Given the description of an element on the screen output the (x, y) to click on. 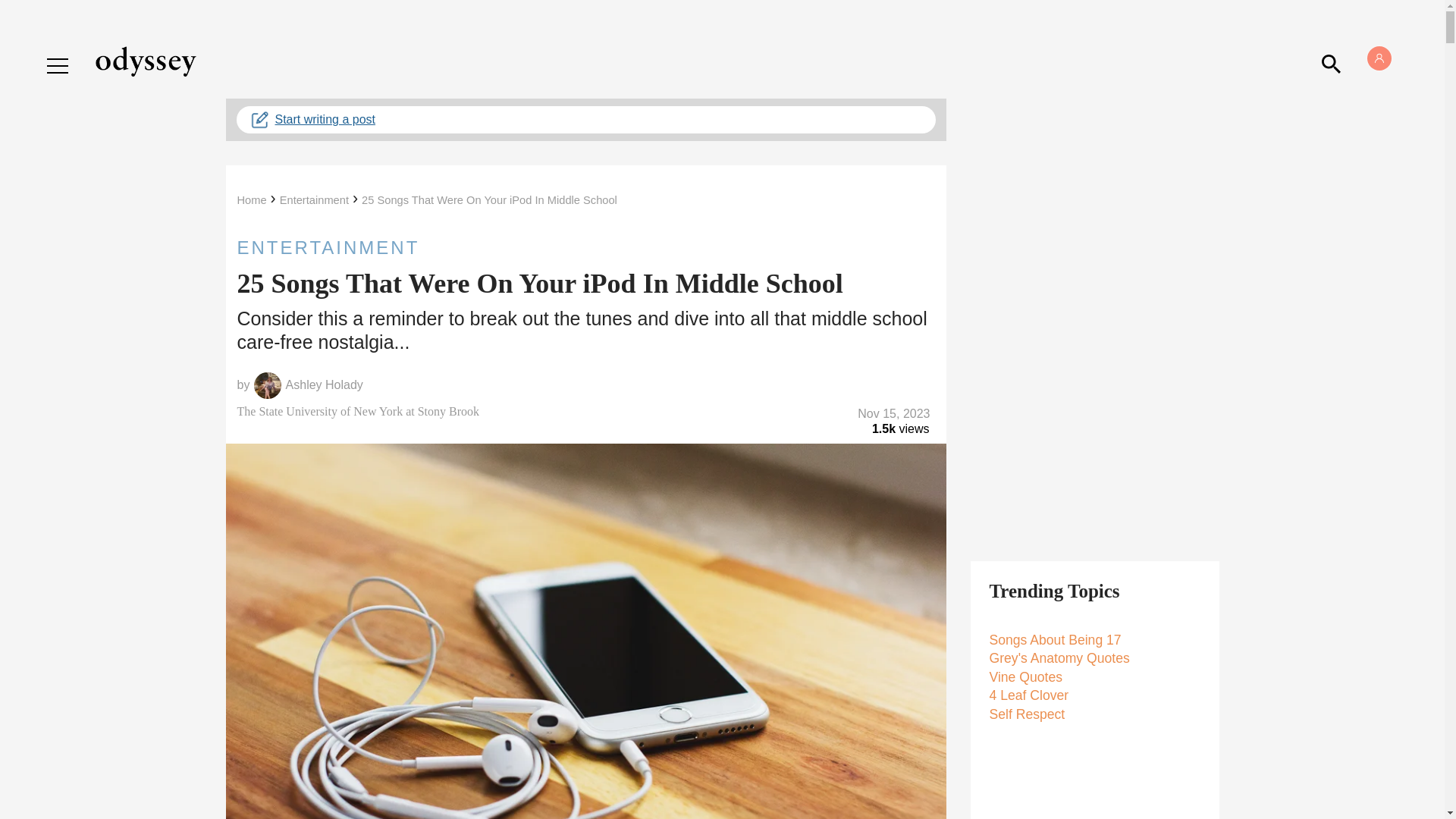
Start writing a post (585, 119)
Ashley Holady (323, 385)
Home (250, 200)
ENTERTAINMENT (584, 248)
Entertainment (314, 200)
25 Songs That Were On Your iPod In Middle School (489, 200)
